Given the description of an element on the screen output the (x, y) to click on. 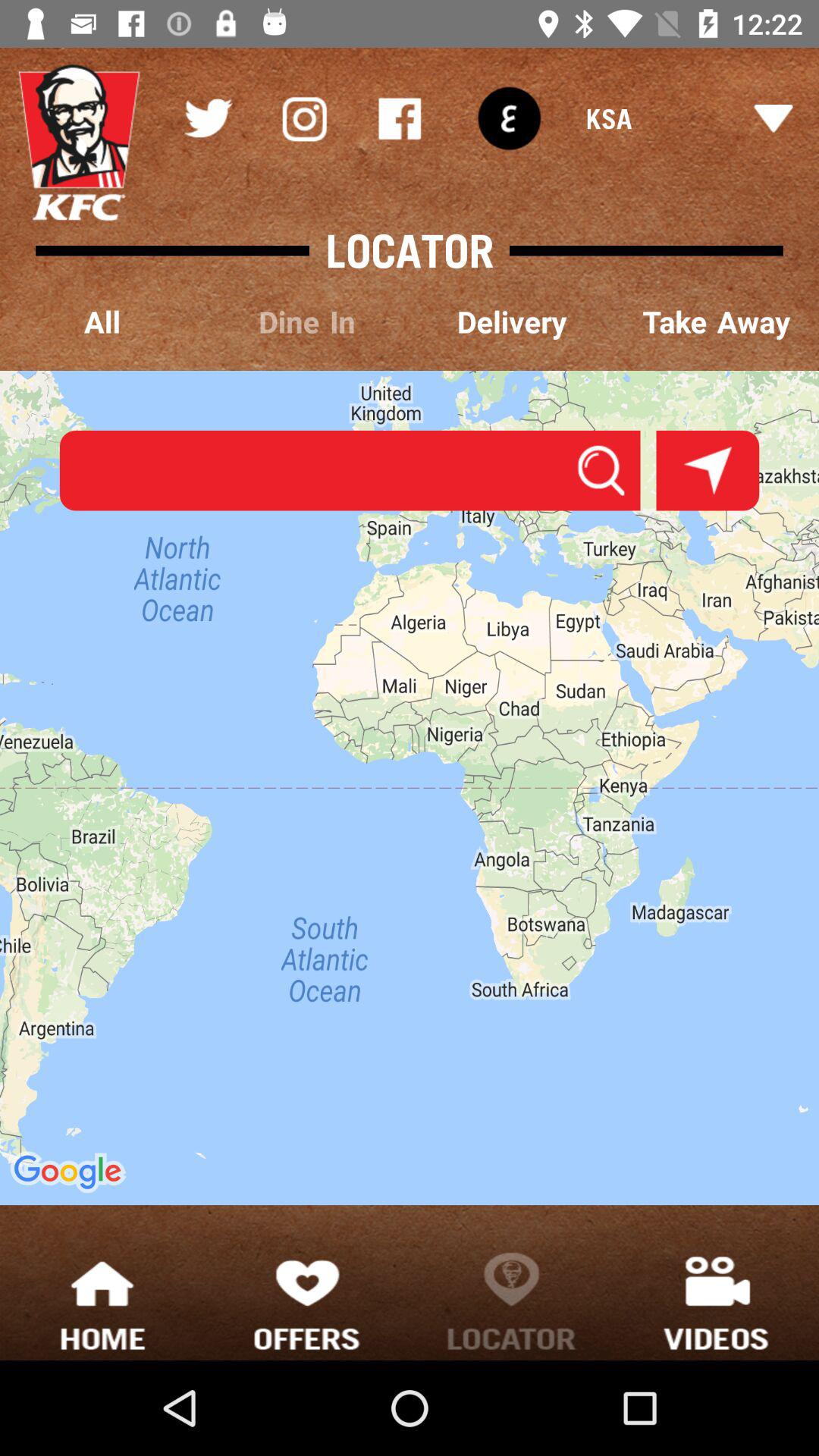
select item to the right of delivery icon (716, 322)
